Given the description of an element on the screen output the (x, y) to click on. 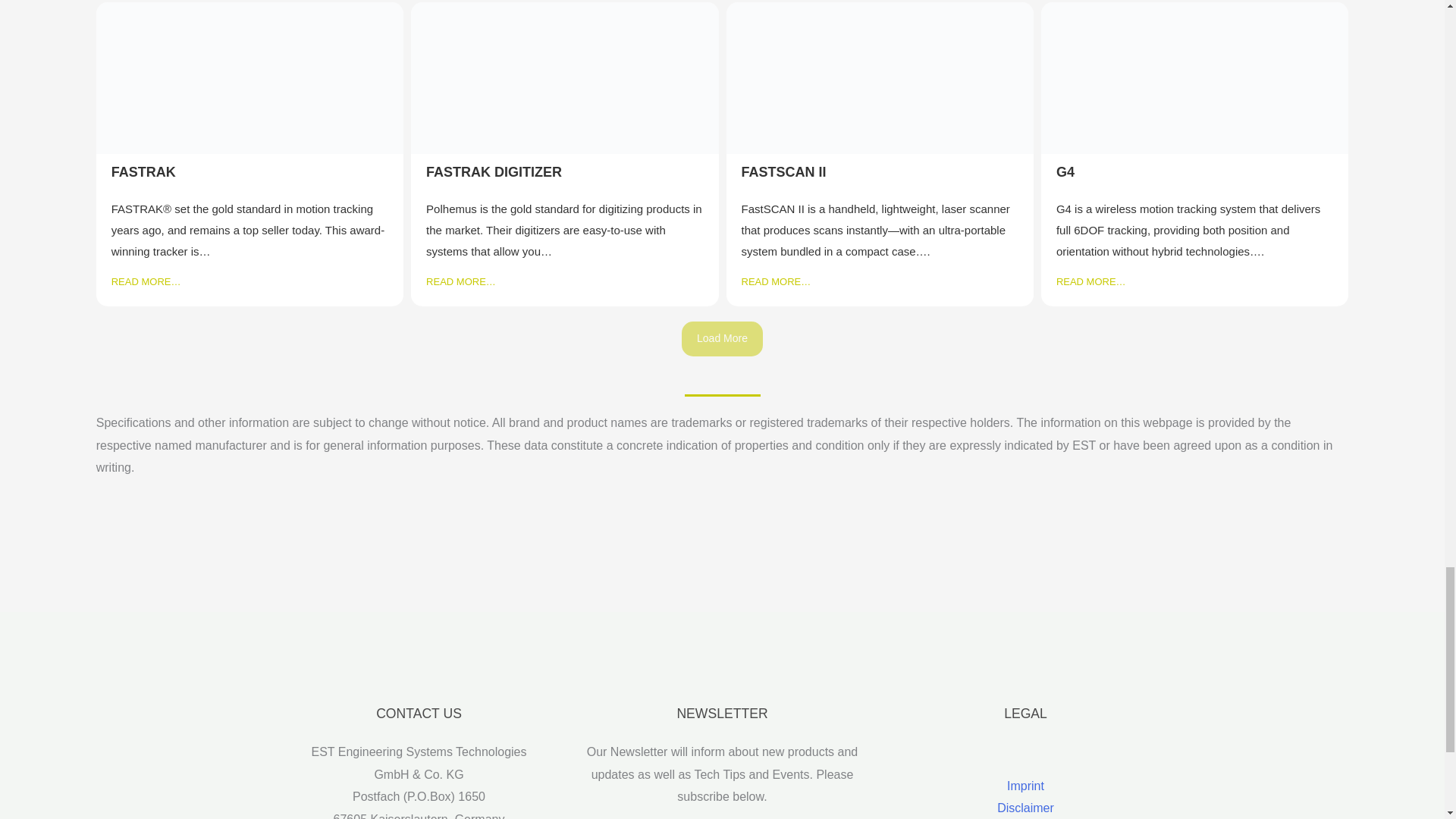
FASTSCAN II (784, 171)
FASTRAK (144, 171)
FASTRAK DIGITIZER (494, 171)
G4 (1065, 171)
